Given the description of an element on the screen output the (x, y) to click on. 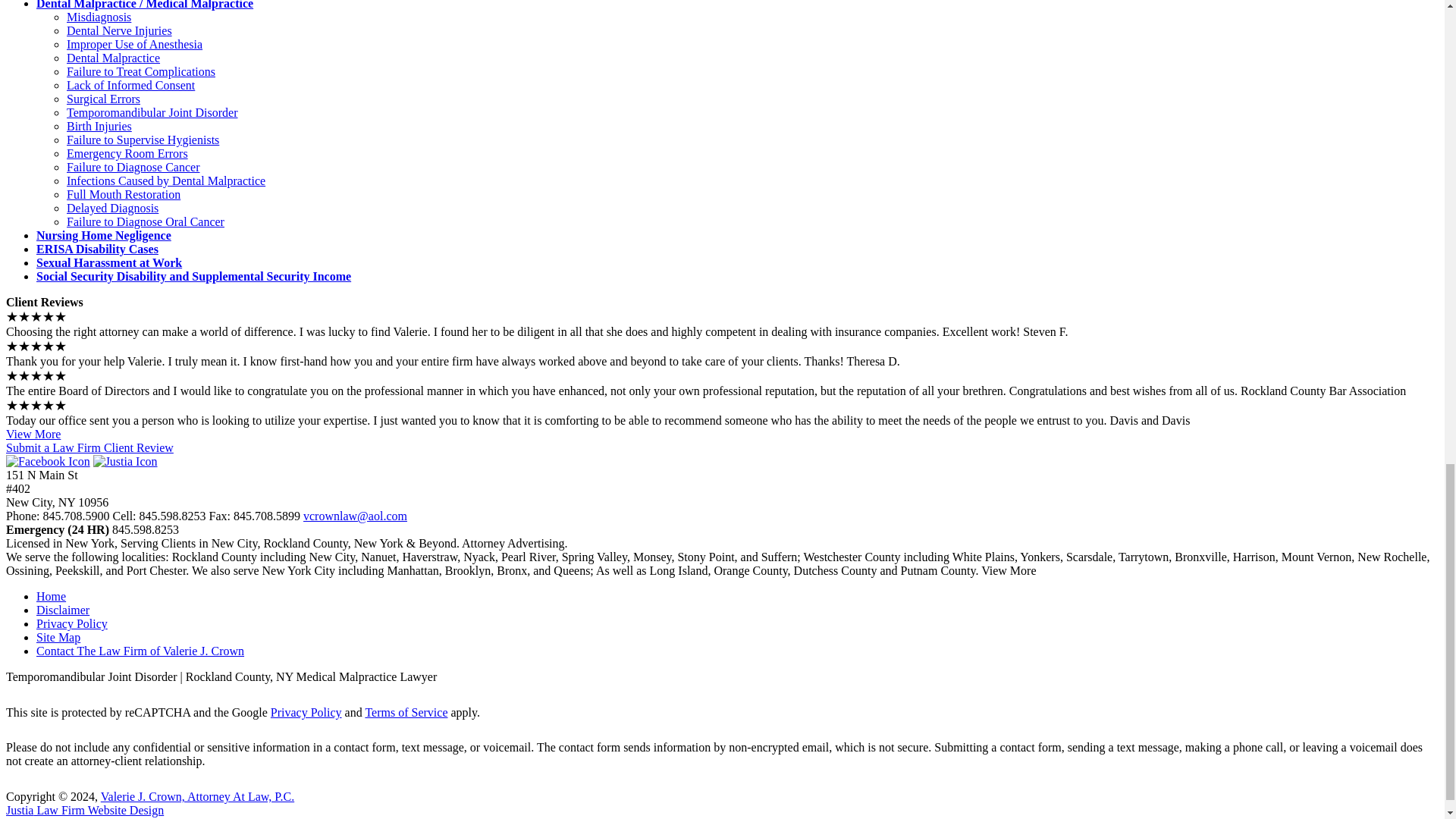
Failure to Diagnose Cancer (133, 166)
Lack of Informed Consent (130, 84)
Failure to Supervise Hygienists (142, 139)
Justia (125, 461)
Failure to Treat Complications (140, 71)
Misdiagnosis (98, 16)
Temporomandibular Joint Disorder (152, 112)
Birth Injuries (99, 125)
Emergency Room Errors (126, 153)
Improper Use of Anesthesia (134, 43)
